Given the description of an element on the screen output the (x, y) to click on. 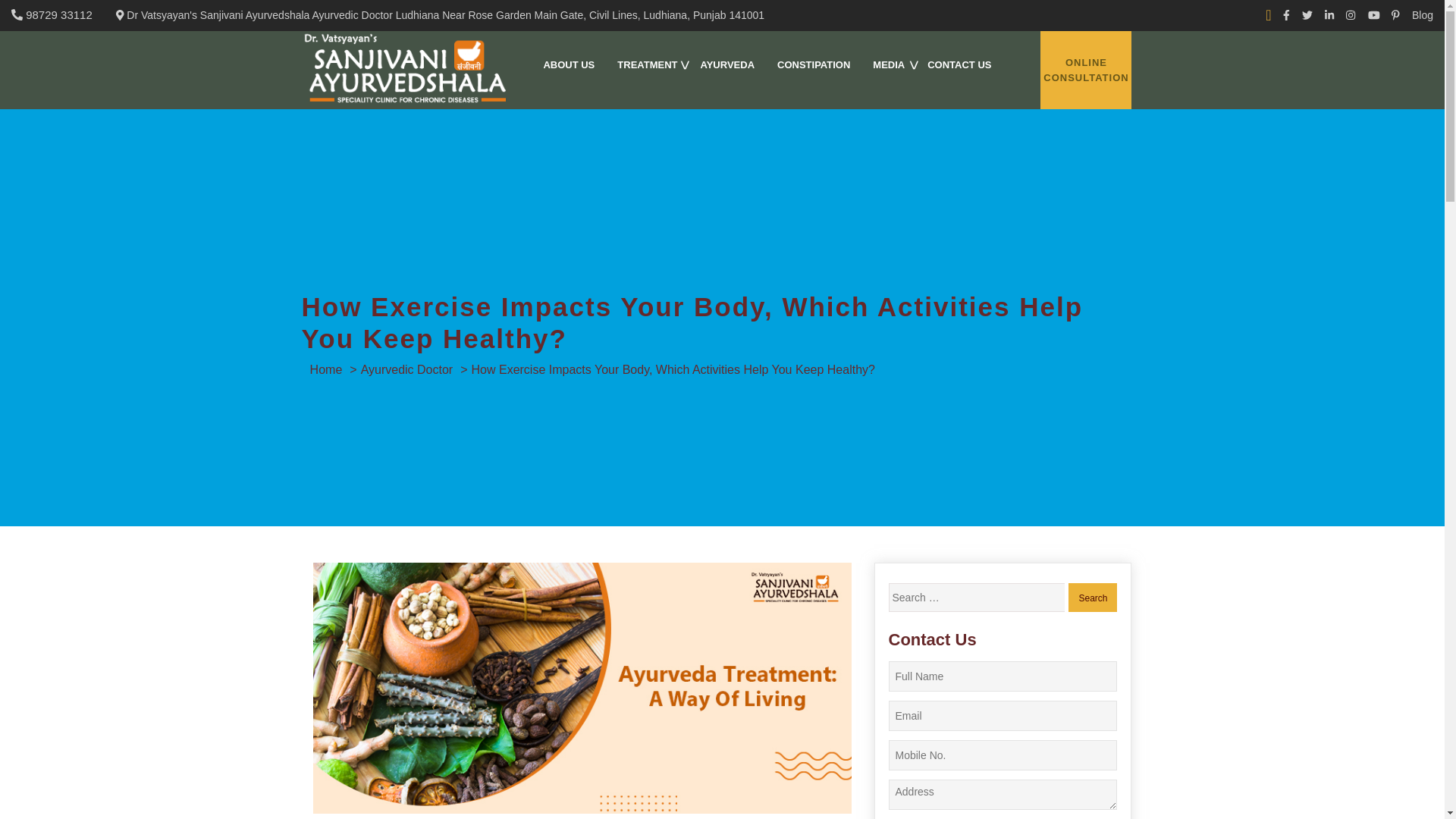
Home (328, 369)
ABOUT US (568, 65)
Search (1092, 597)
98729 33112 (58, 14)
Search (1092, 597)
Blog (1422, 15)
TREATMENT (646, 65)
